Given the description of an element on the screen output the (x, y) to click on. 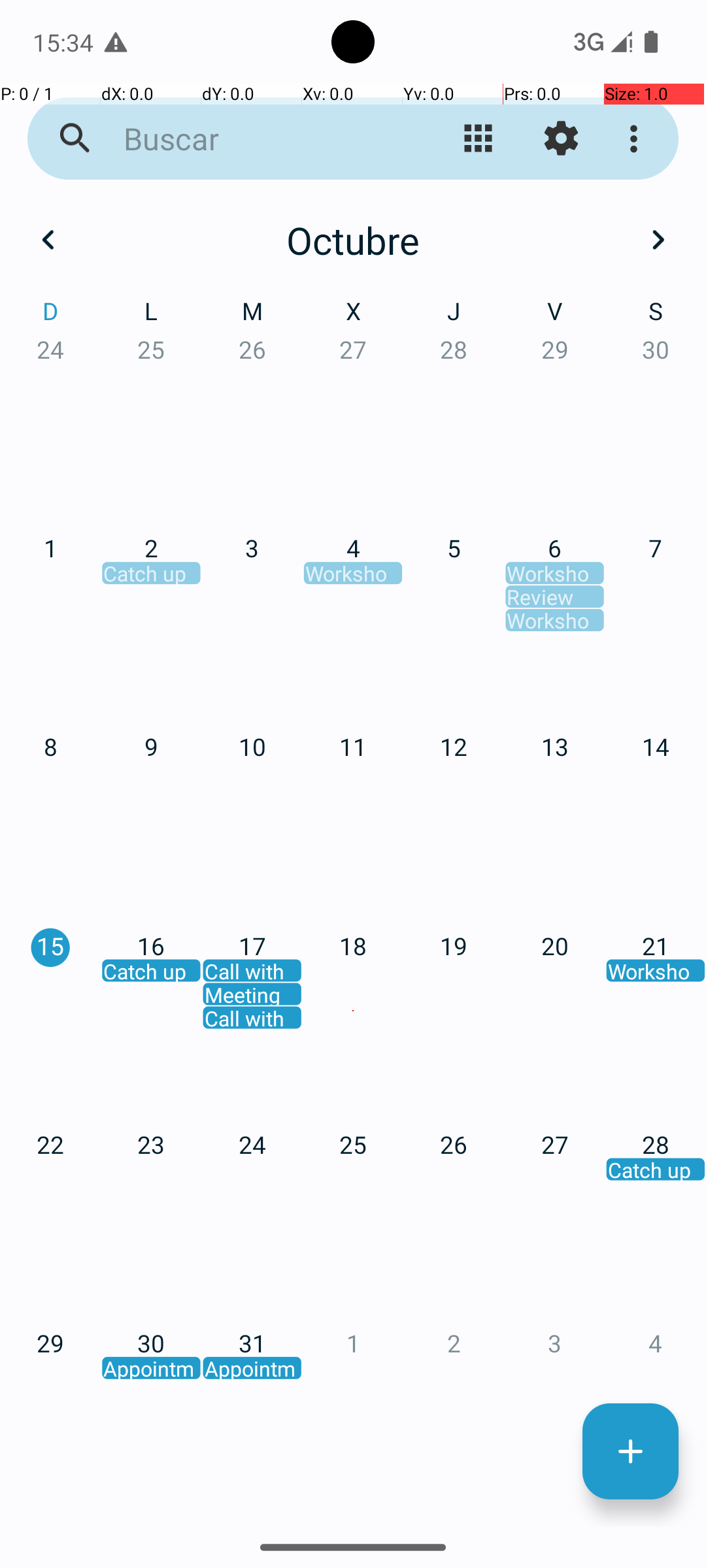
Buscar Element type: android.widget.EditText (252, 138)
Cambiar vista Element type: android.widget.Button (477, 138)
Ajustes Element type: android.widget.Button (560, 138)
Más opciones Element type: android.widget.ImageView (636, 138)
Nuevo evento Element type: android.widget.ImageButton (630, 1451)
Octubre Element type: android.widget.TextView (352, 239)
